Given the description of an element on the screen output the (x, y) to click on. 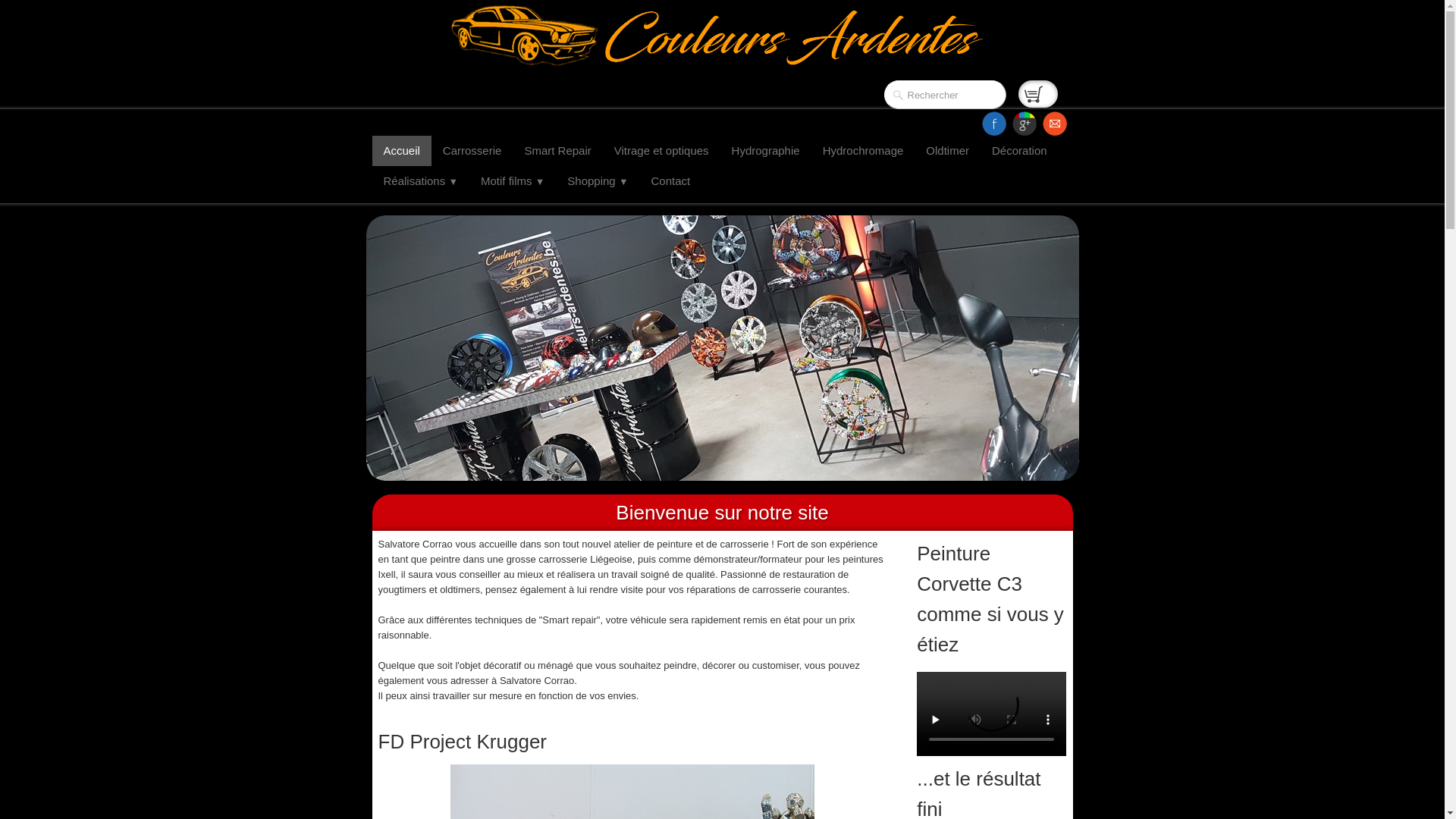
Hydrochromage Element type: text (863, 150)
Smart Repair Element type: text (557, 150)
Oldtimer Element type: text (947, 150)
Carrosserie Element type: text (472, 150)
Accueil Element type: text (400, 150)
Vitrage et optiques Element type: text (661, 150)
Hydrographie Element type: text (765, 150)
Contact Element type: text (671, 181)
Panier Element type: hover (1037, 93)
